Given the description of an element on the screen output the (x, y) to click on. 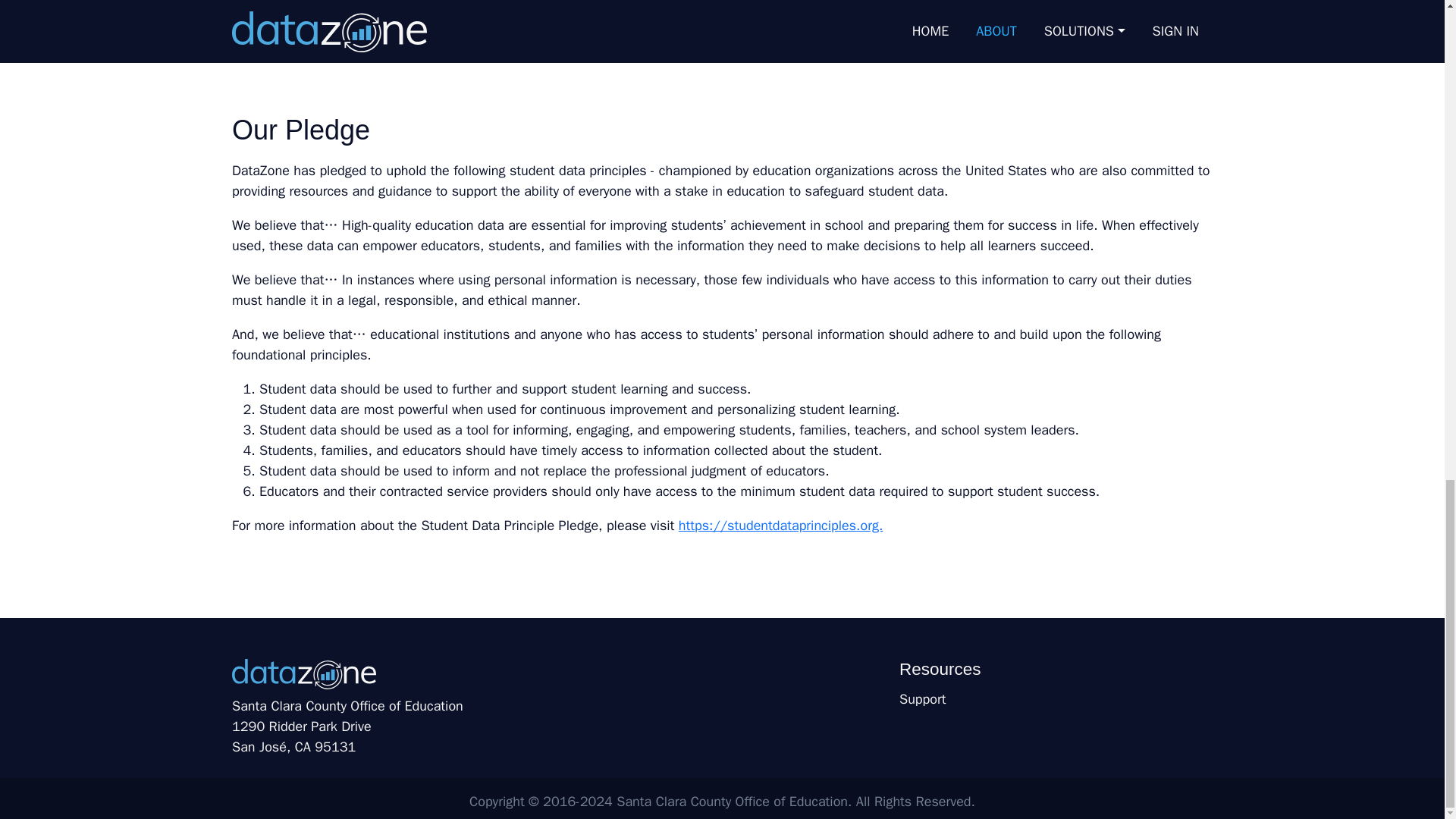
Support (1055, 699)
DataZone (303, 676)
